Given the description of an element on the screen output the (x, y) to click on. 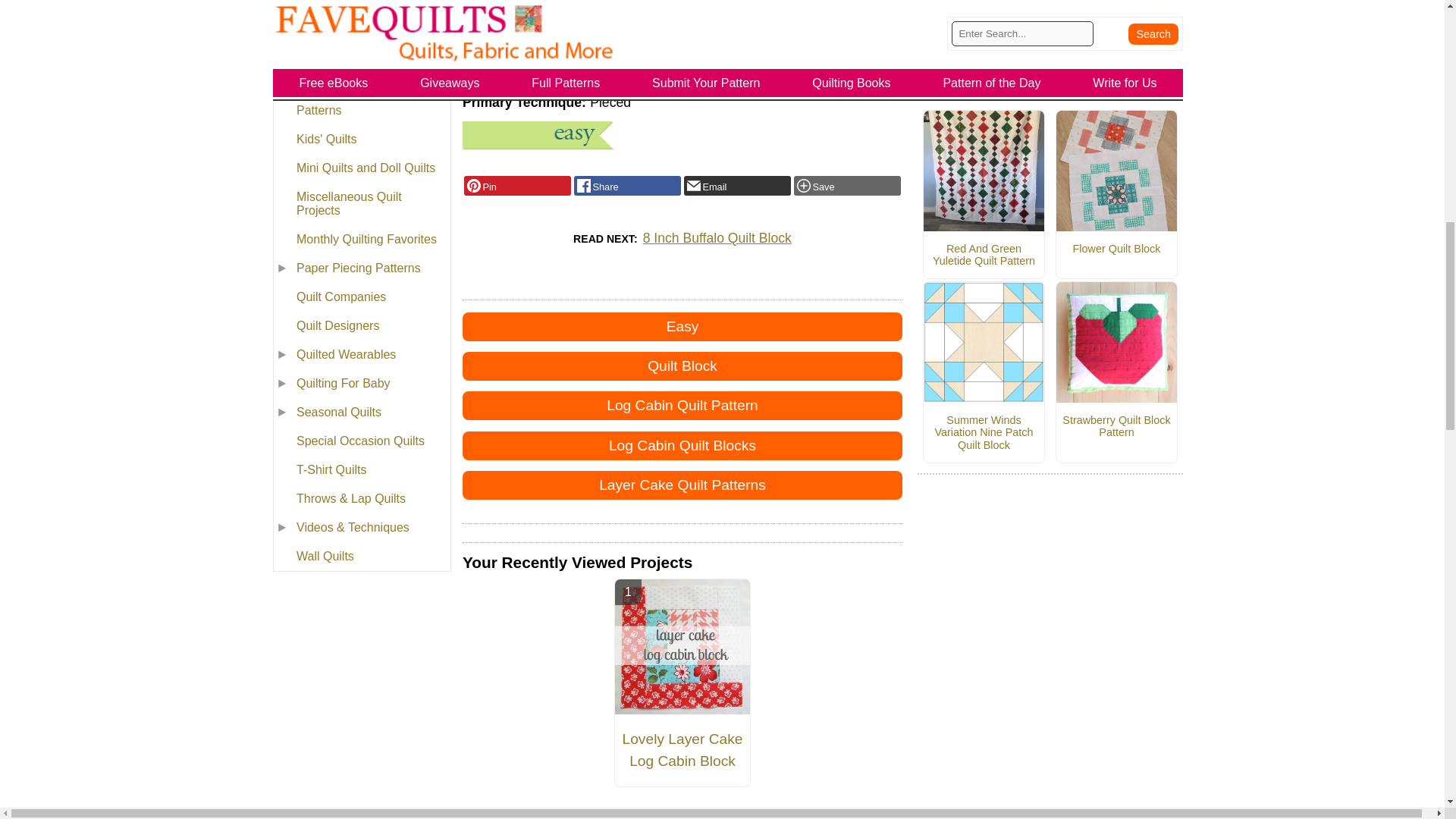
Email (737, 185)
Add (847, 185)
Facebook (627, 185)
